Given the description of an element on the screen output the (x, y) to click on. 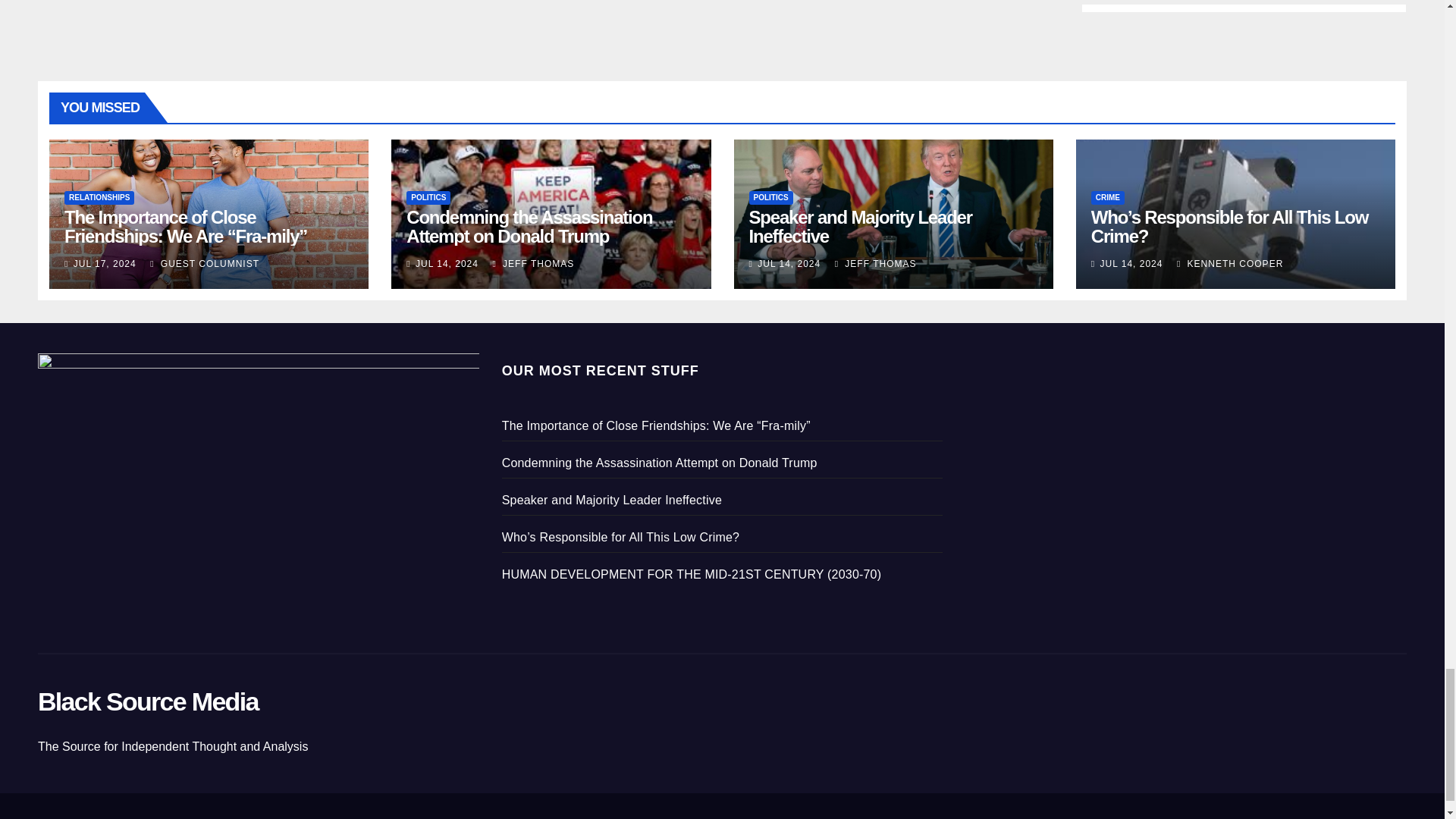
Permalink to: Speaker and Majority Leader Ineffective (860, 226)
